Given the description of an element on the screen output the (x, y) to click on. 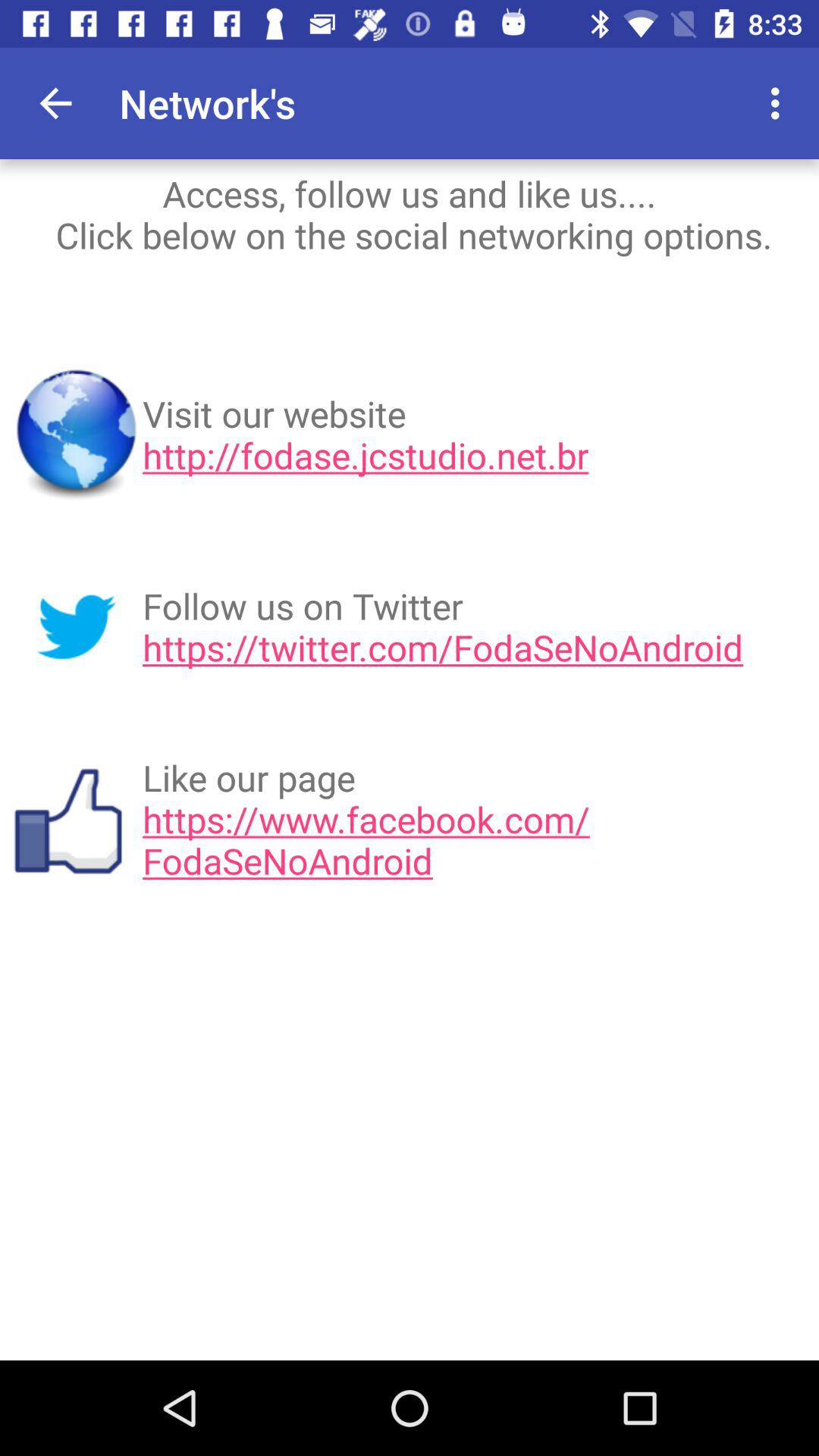
choose the icon above access follow us (779, 103)
